Given the description of an element on the screen output the (x, y) to click on. 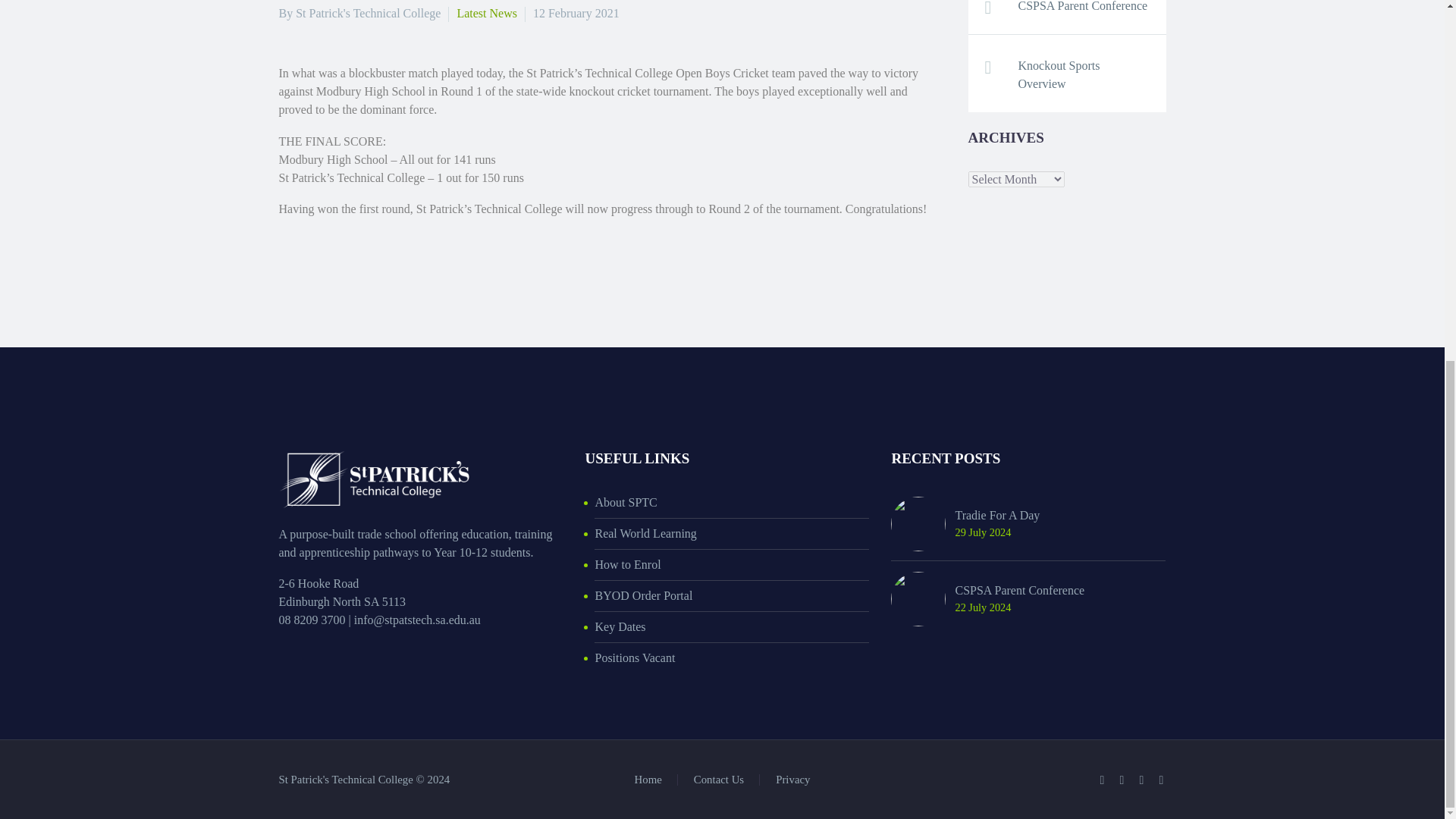
Facebook (1102, 779)
LinkedIn (1122, 779)
YouTube (1161, 779)
Instagram (1141, 779)
View all posts in Latest News (486, 12)
